Given the description of an element on the screen output the (x, y) to click on. 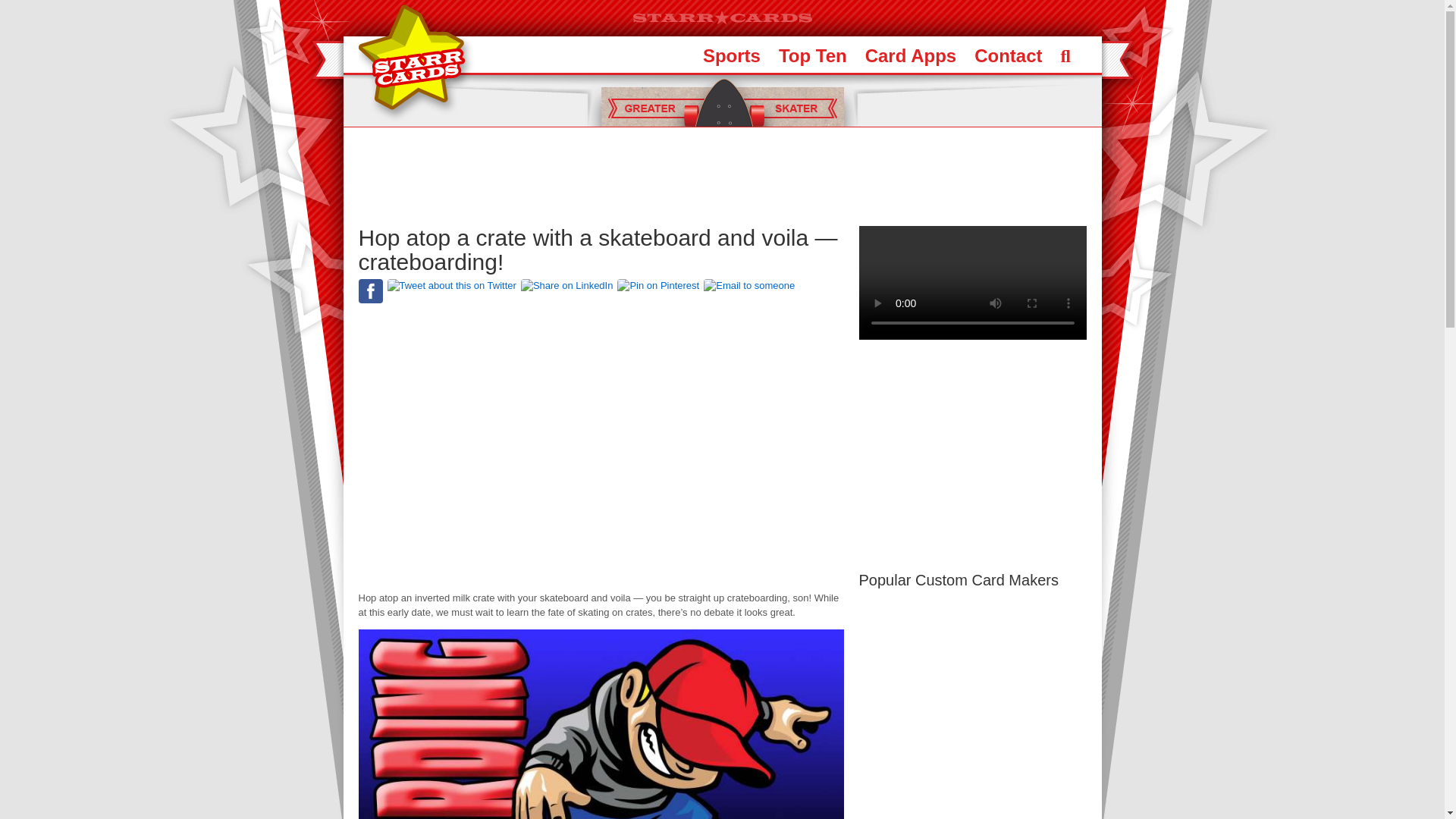
Sports (731, 54)
Card Apps (910, 54)
Top Ten (812, 54)
Advertisement (721, 176)
Facebook (369, 291)
